Given the description of an element on the screen output the (x, y) to click on. 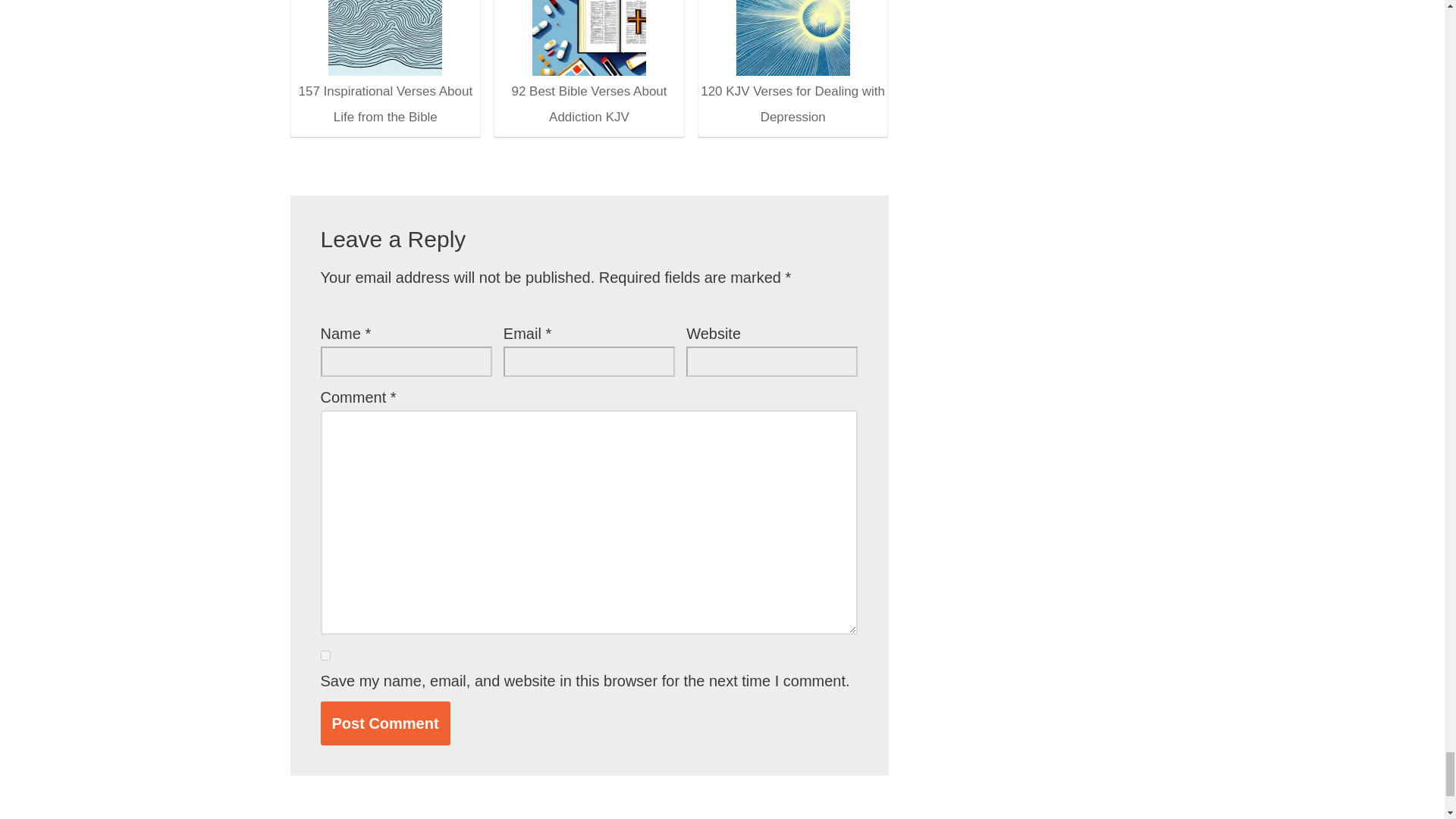
157 Inspirational Verses About Life from the Bible (384, 65)
yes (325, 655)
92 Best Bible Verses About Addiction KJV (589, 38)
120 KJV Verses for Dealing with Depression (792, 65)
157 Inspirational Verses About Life from the Bible (385, 38)
92 Best Bible Verses About Addiction KJV (588, 65)
Post Comment (384, 722)
Post Comment (384, 722)
120 KJV Verses for Dealing with Depression (793, 38)
